Given the description of an element on the screen output the (x, y) to click on. 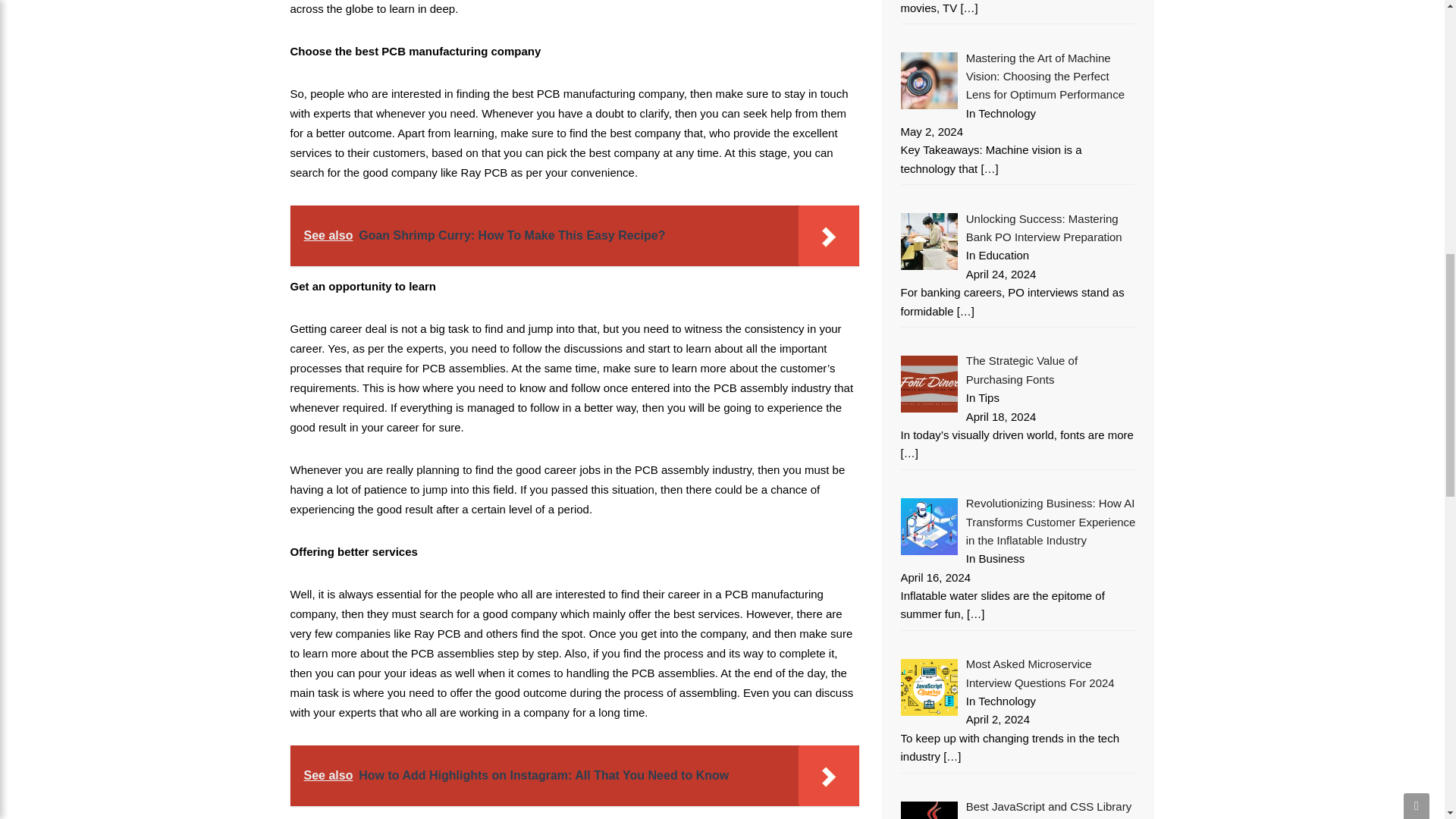
See also  Goan Shrimp Curry: How To Make This Easy Recipe? (574, 235)
